Given the description of an element on the screen output the (x, y) to click on. 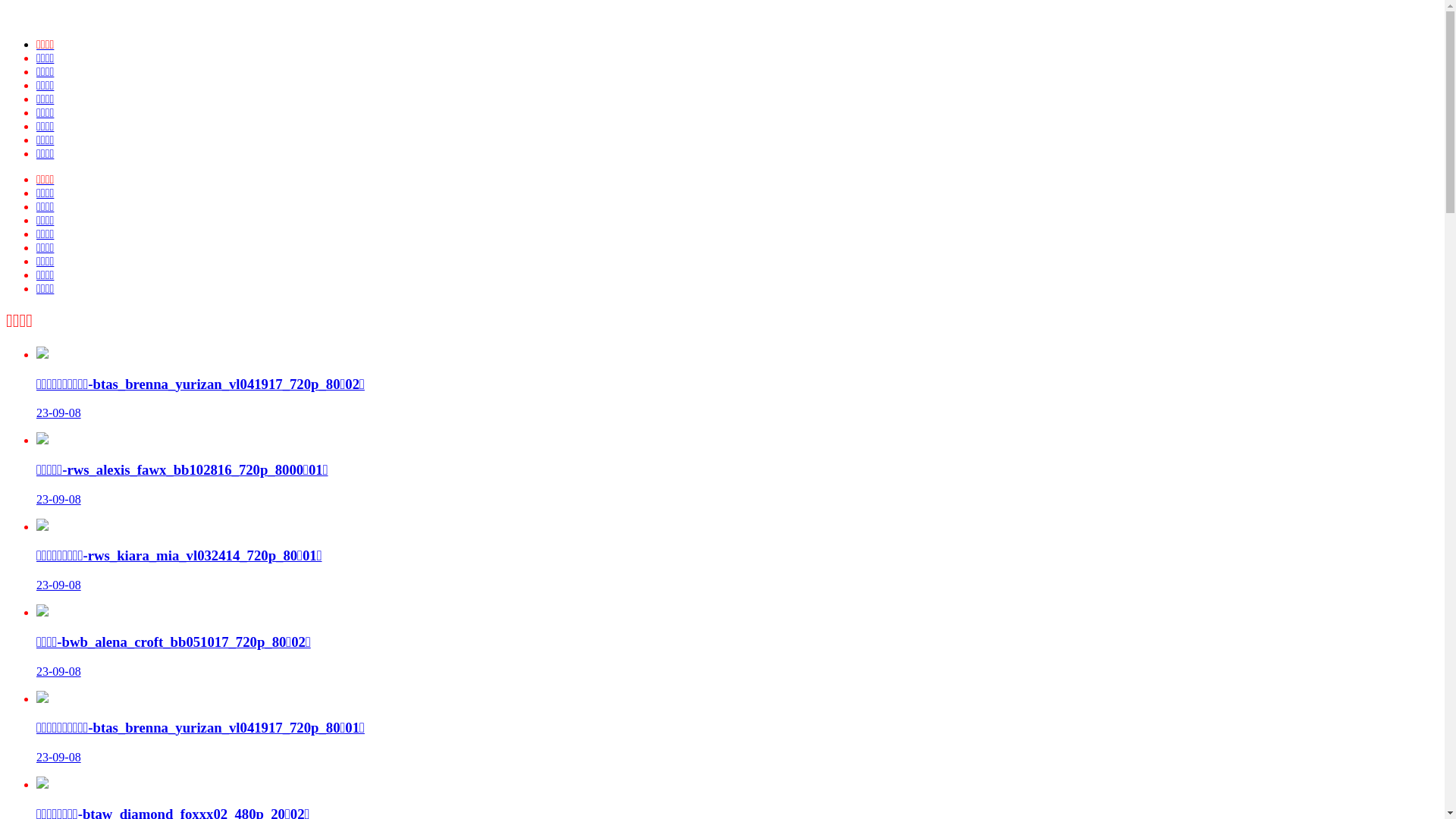
23-09-08 Element type: text (58, 671)
23-09-08 Element type: text (58, 498)
23-09-08 Element type: text (58, 756)
23-09-08 Element type: text (58, 584)
23-09-08 Element type: text (58, 412)
